Given the description of an element on the screen output the (x, y) to click on. 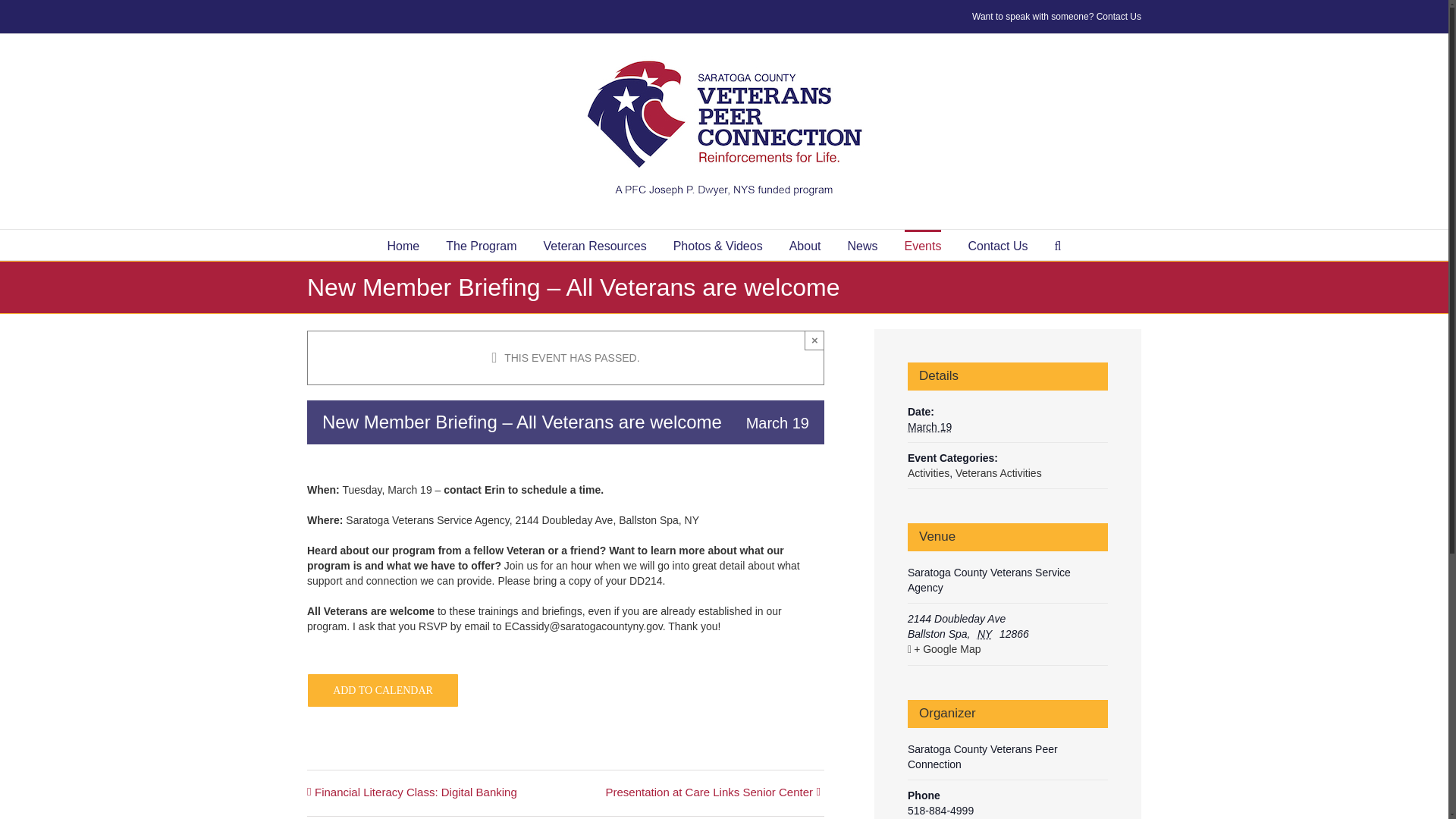
Presentation at Care Links Senior Center (704, 792)
Veteran Resources (594, 245)
Contact Us (1118, 16)
Page 1 (565, 535)
2024-03-19 (929, 426)
Contact Us (997, 245)
ADD TO CALENDAR (382, 689)
Home (403, 245)
Events (922, 245)
New York (985, 633)
Financial Literacy Class: Digital Banking (419, 792)
Click to view a Google Map (1006, 649)
News (862, 245)
The Program (480, 245)
About (805, 245)
